Given the description of an element on the screen output the (x, y) to click on. 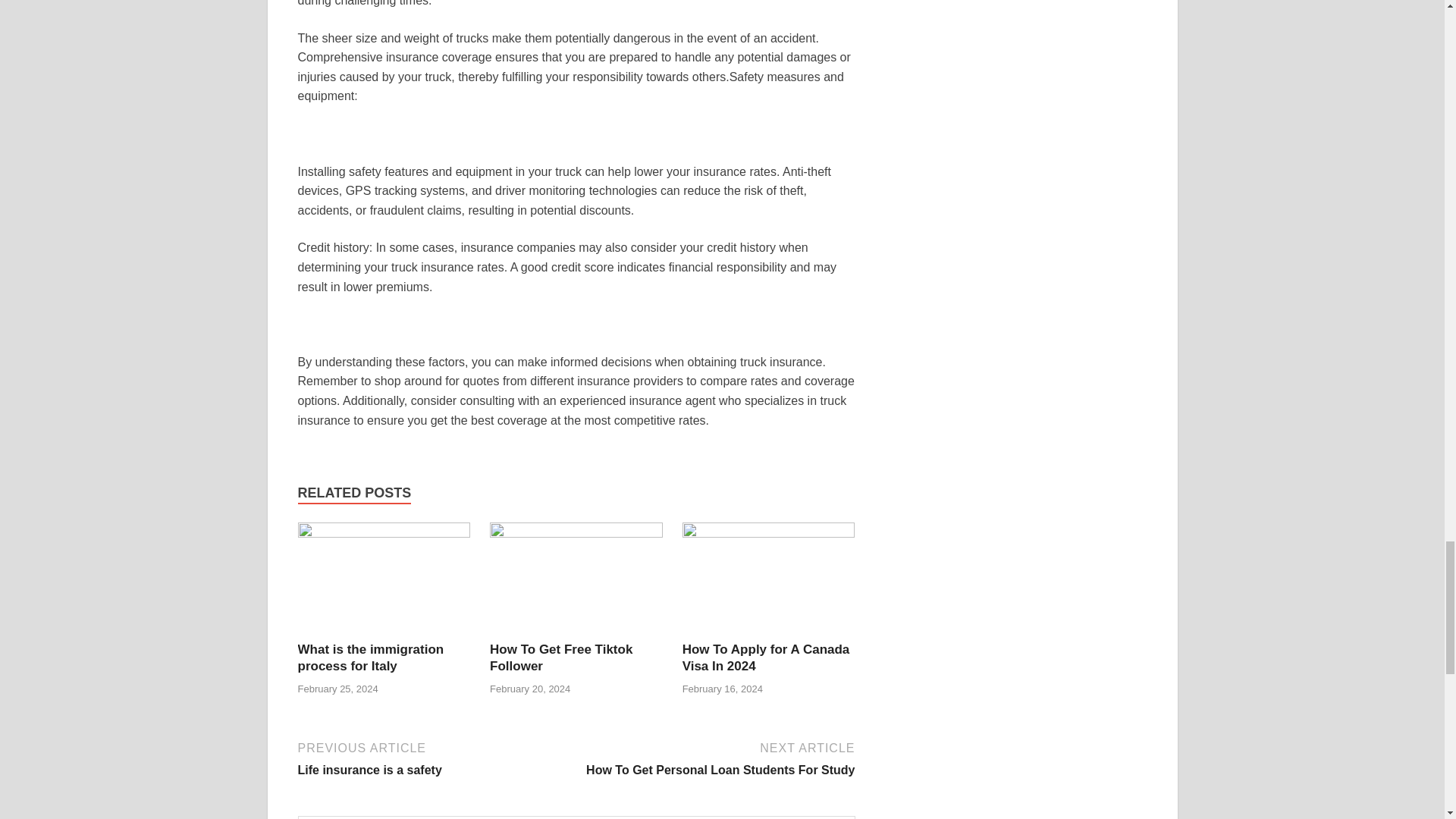
How To Get Free Tiktok Follower  (560, 657)
What is the immigration process for Italy (717, 757)
How To Apply for A Canada Visa In 2024 (370, 657)
How To Apply for A Canada Visa In 2024 (769, 581)
What is the immigration process for Italy (766, 657)
What is the immigration process for Italy (383, 581)
